Given the description of an element on the screen output the (x, y) to click on. 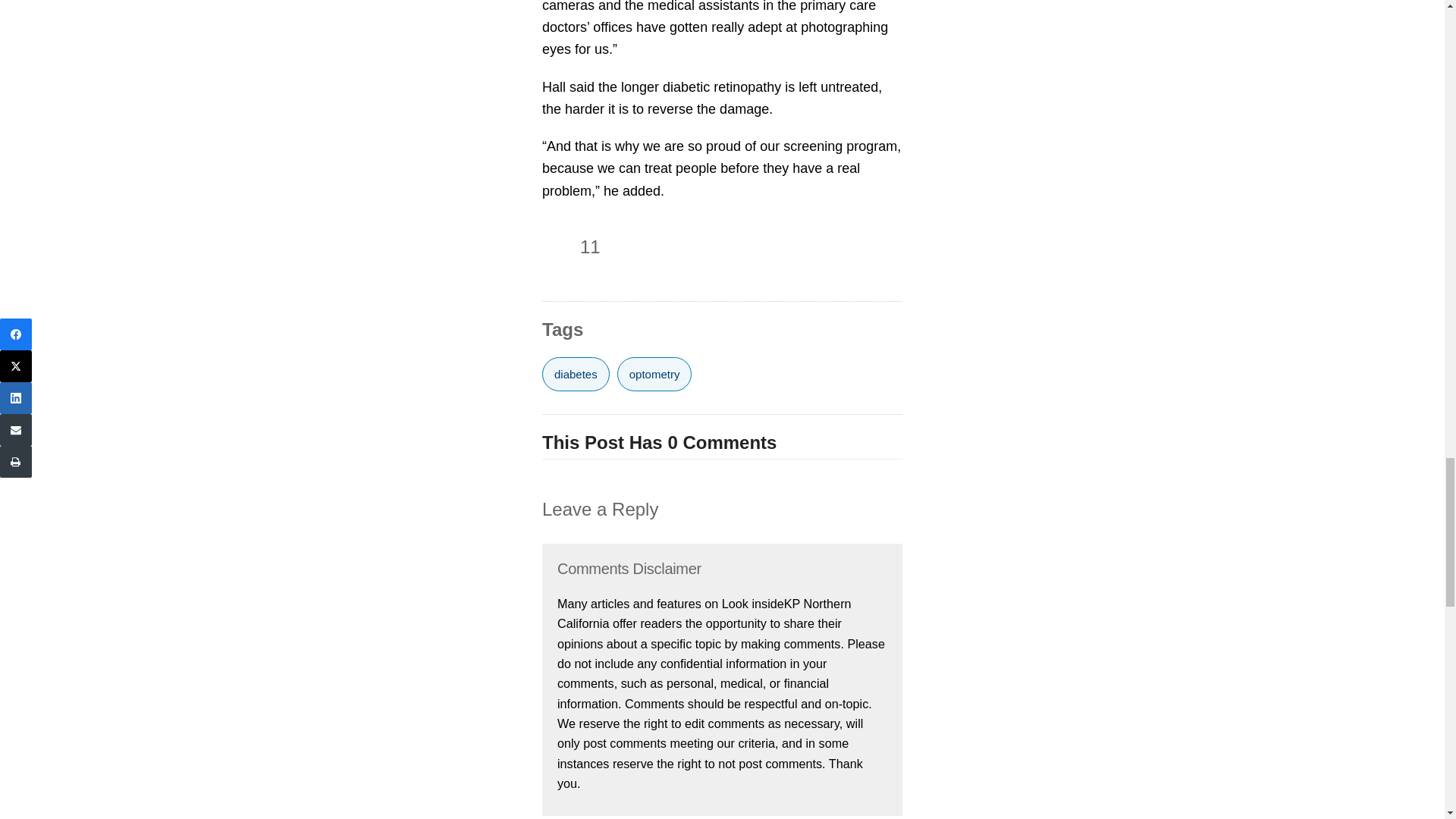
Like (556, 247)
optometry (655, 374)
diabetes (575, 374)
